Given the description of an element on the screen output the (x, y) to click on. 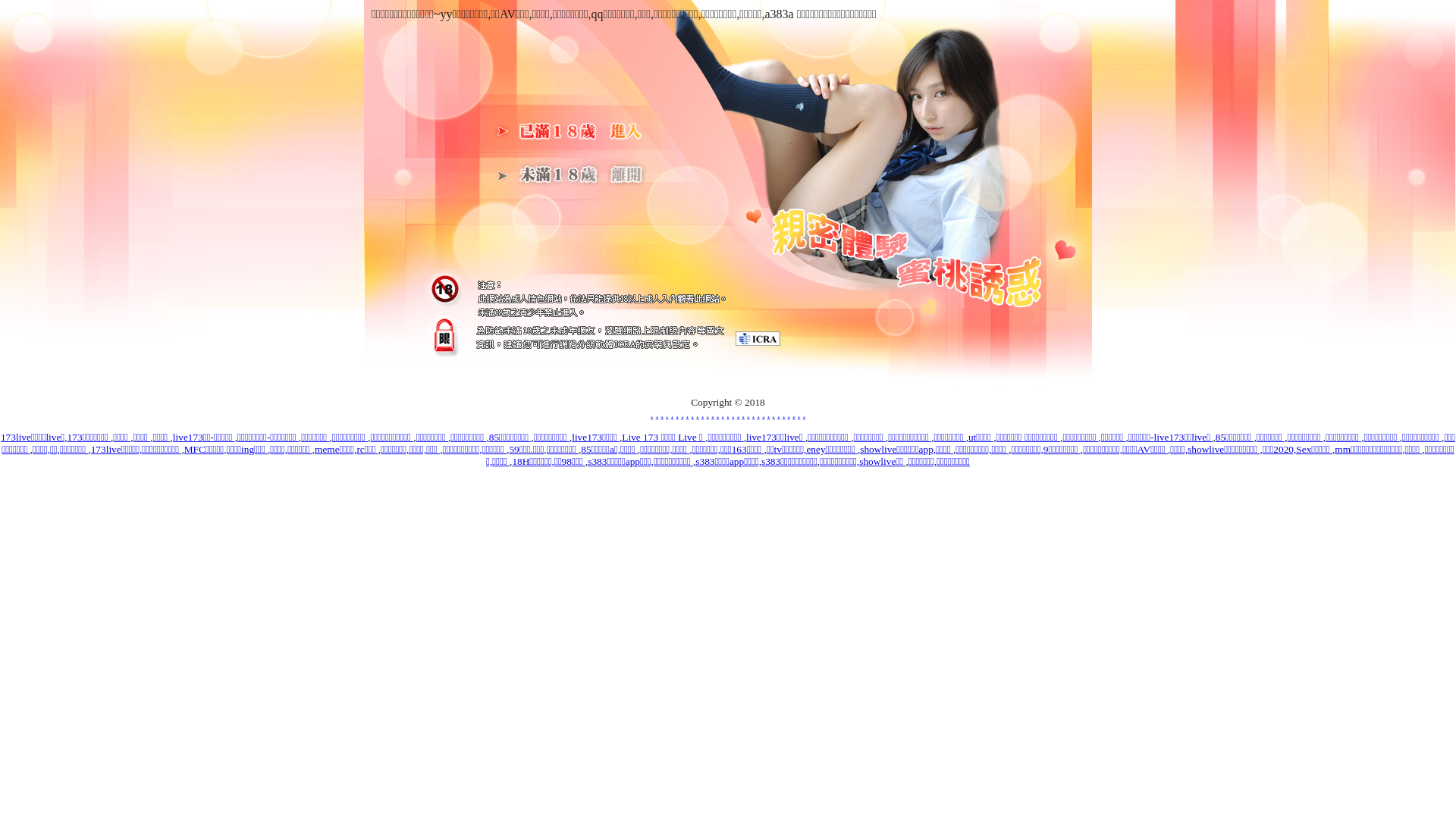
. Element type: text (687, 414)
. Element type: text (717, 414)
. Element type: text (727, 414)
. Element type: text (702, 414)
. Element type: text (712, 414)
. Element type: text (692, 414)
. Element type: text (804, 414)
. Element type: text (697, 414)
. Element type: text (742, 414)
. Element type: text (672, 414)
. Element type: text (747, 414)
. Element type: text (656, 414)
. Element type: text (661, 414)
. Element type: text (763, 414)
. Element type: text (651, 414)
. Element type: text (783, 414)
. Element type: text (738, 414)
. Element type: text (788, 414)
. Element type: text (681, 414)
. Element type: text (798, 414)
. Element type: text (707, 414)
. Element type: text (676, 414)
. Element type: text (768, 414)
. Element type: text (753, 414)
. Element type: text (732, 414)
. Element type: text (757, 414)
. Element type: text (793, 414)
. Element type: text (722, 414)
. Element type: text (773, 414)
. Element type: text (666, 414)
. Element type: text (778, 414)
